Given the description of an element on the screen output the (x, y) to click on. 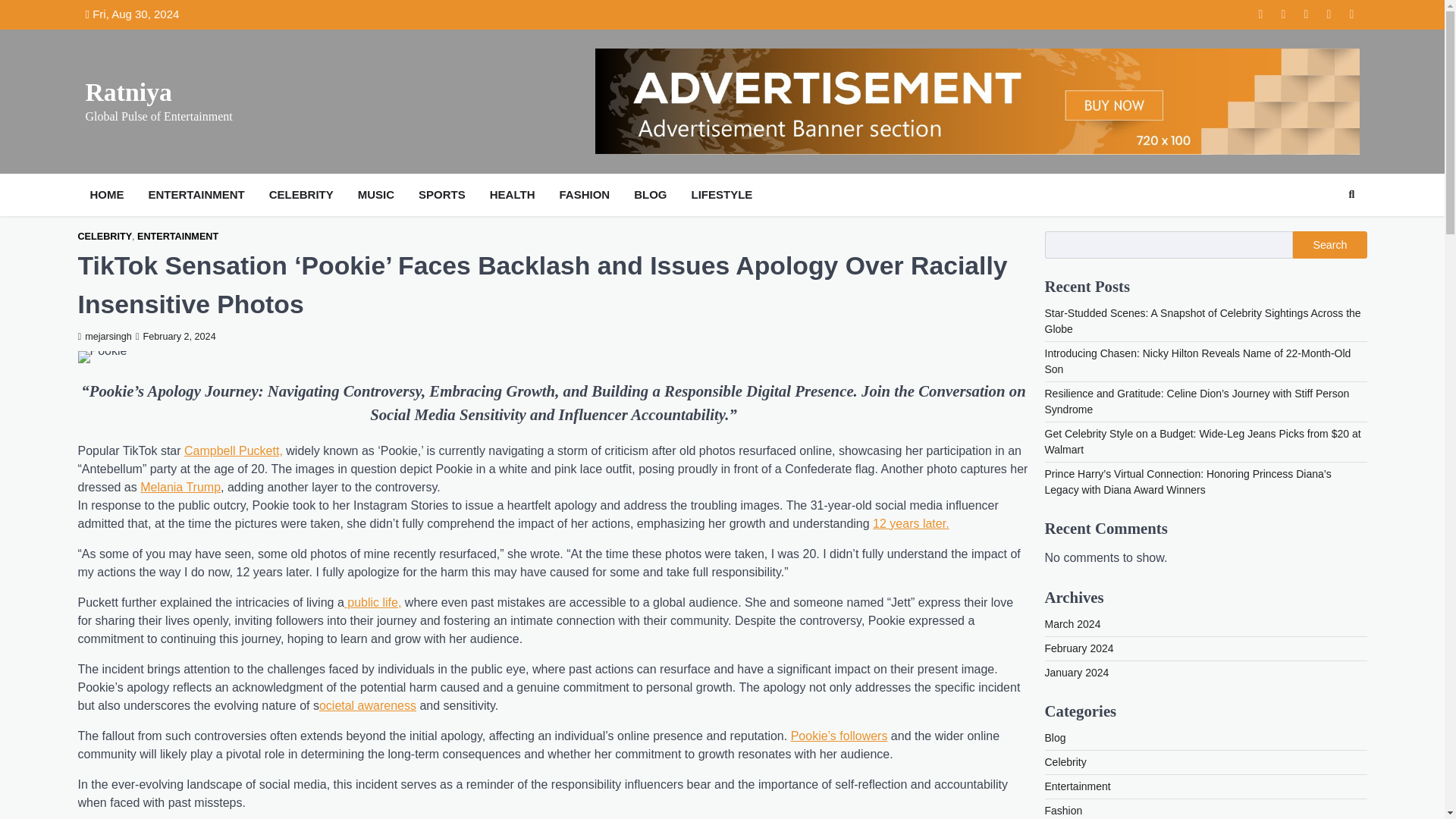
LinkedIn (1305, 14)
CELEBRITY (104, 236)
Facebook (1282, 14)
Twitter (1260, 14)
FASHION (584, 194)
Melania Trump (180, 486)
Instagram (1328, 14)
Ratniya (127, 91)
Campbell Puckett, (233, 450)
12 years later. (910, 522)
